Given the description of an element on the screen output the (x, y) to click on. 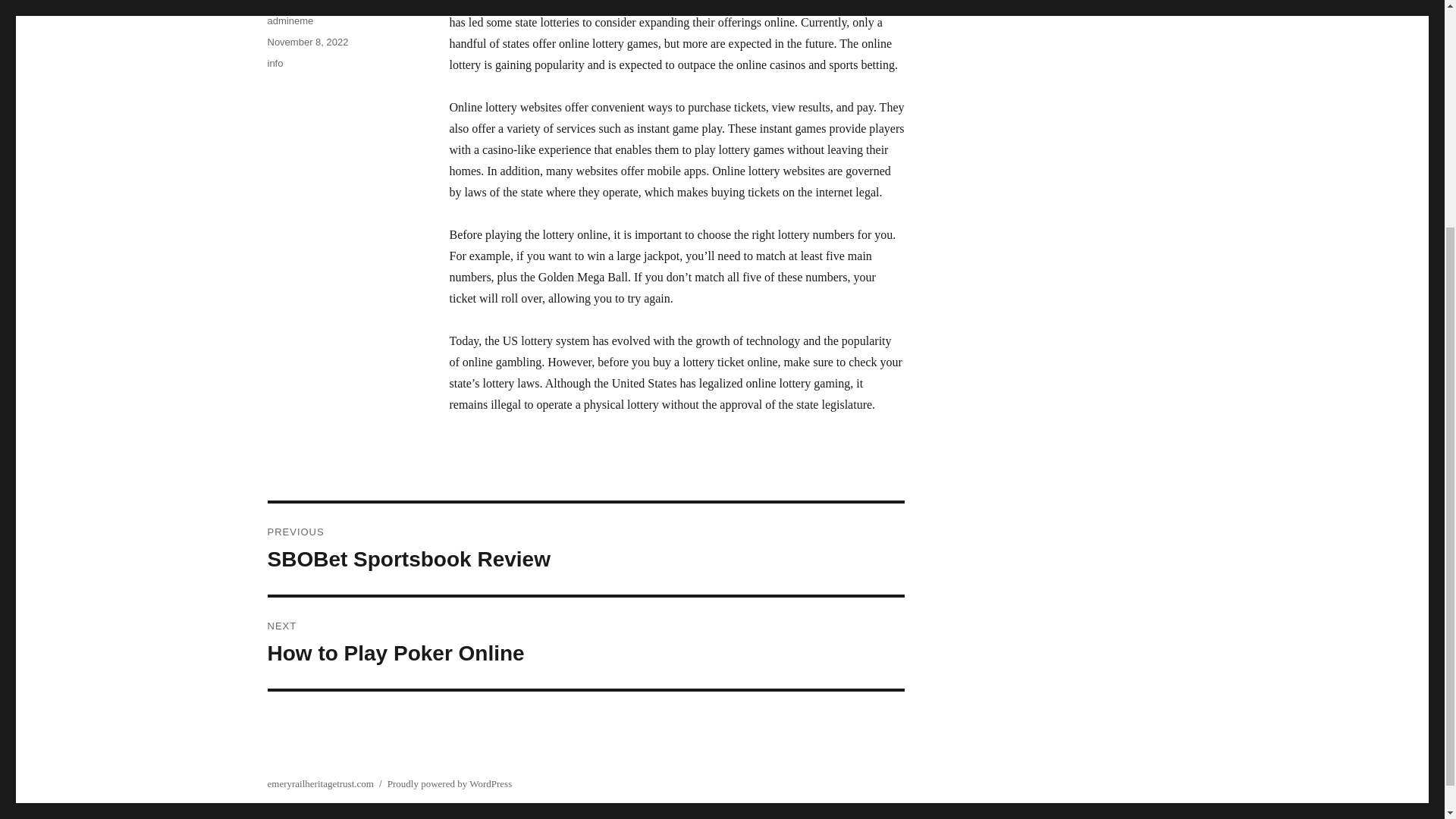
November 8, 2022 (306, 41)
info (585, 548)
admineme (585, 642)
emeryrailheritagetrust.com (274, 62)
Proudly powered by WordPress (289, 20)
